Given the description of an element on the screen output the (x, y) to click on. 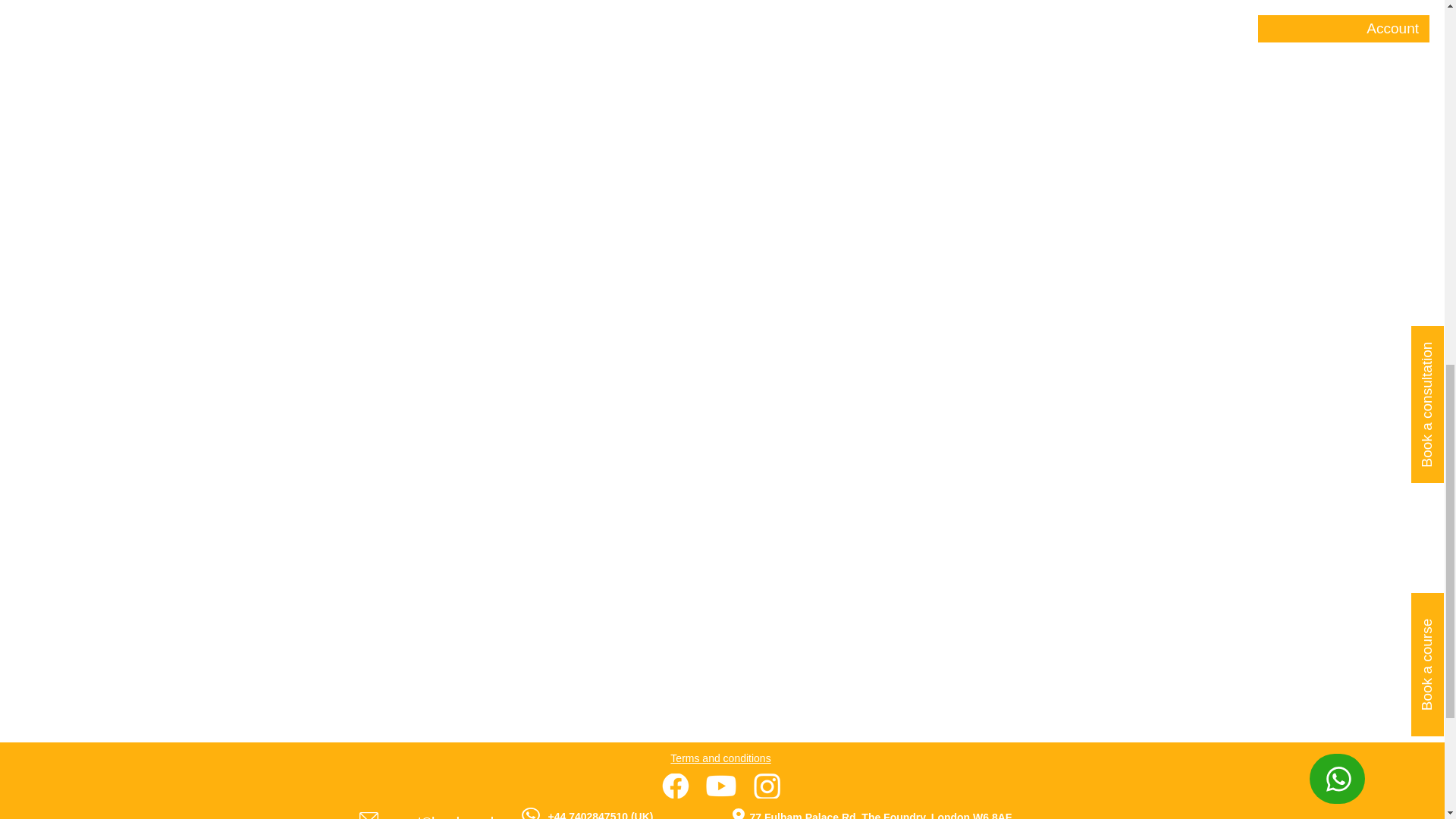
Previous (515, 87)
Terms and conditions (719, 758)
Next (943, 87)
